Given the description of an element on the screen output the (x, y) to click on. 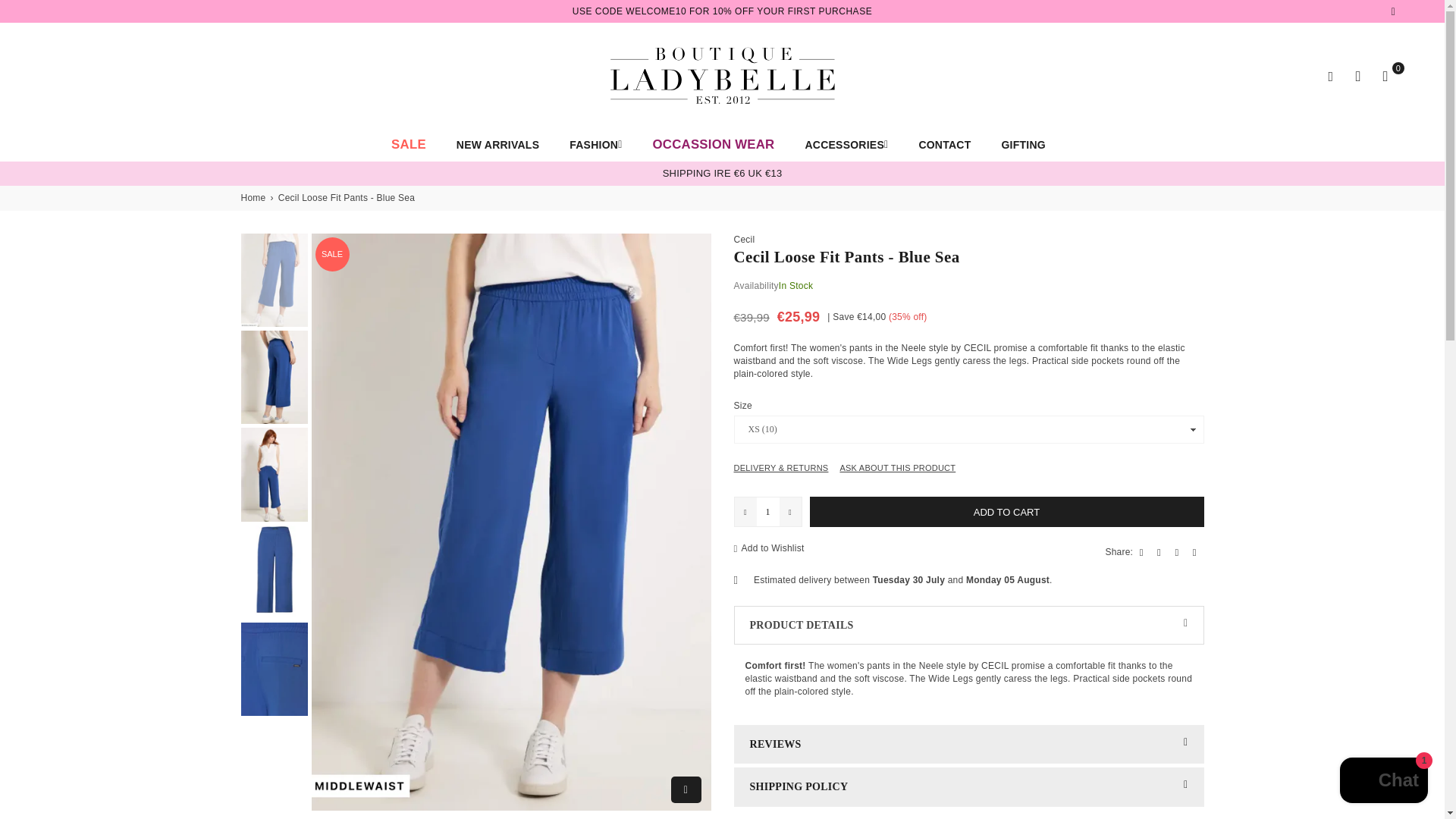
Search (1330, 75)
Pin on Pinterest (1178, 552)
Tweet on Twitter (1160, 552)
Share on Facebook (1143, 552)
0 (1385, 75)
Cecil (744, 239)
Quantity (767, 511)
Back to home page (254, 197)
SALE (409, 144)
Share by Email (1195, 552)
1 (767, 511)
Settings (1357, 75)
BOUTIQUE LADYBELLE ABBEYLEIX (721, 75)
Cart (1385, 75)
FASHION (595, 144)
